Given the description of an element on the screen output the (x, y) to click on. 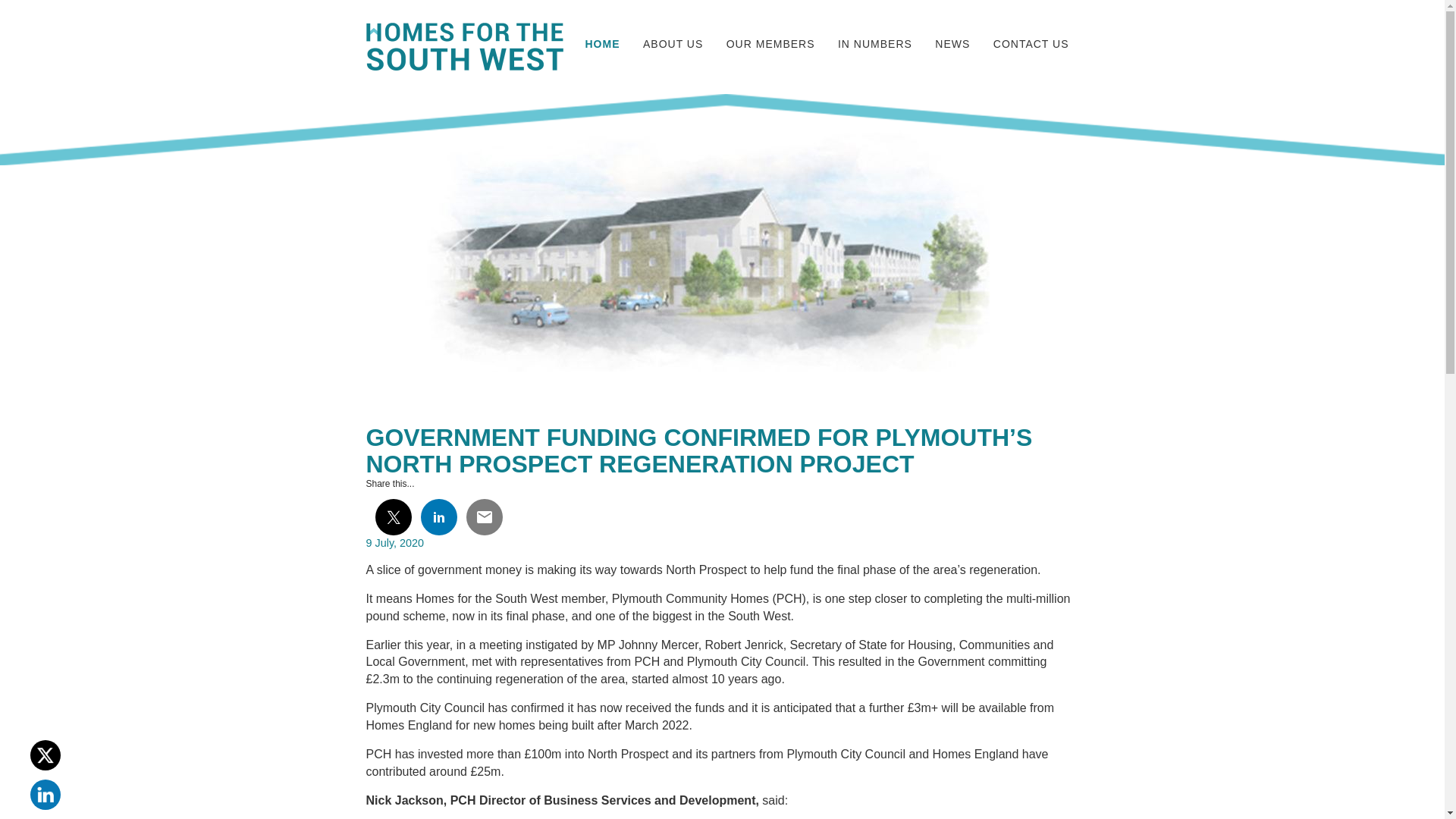
ABOUT US (672, 44)
CONTACT US (1031, 44)
IN NUMBERS (874, 44)
OUR MEMBERS (770, 44)
Twitter (45, 754)
